Given the description of an element on the screen output the (x, y) to click on. 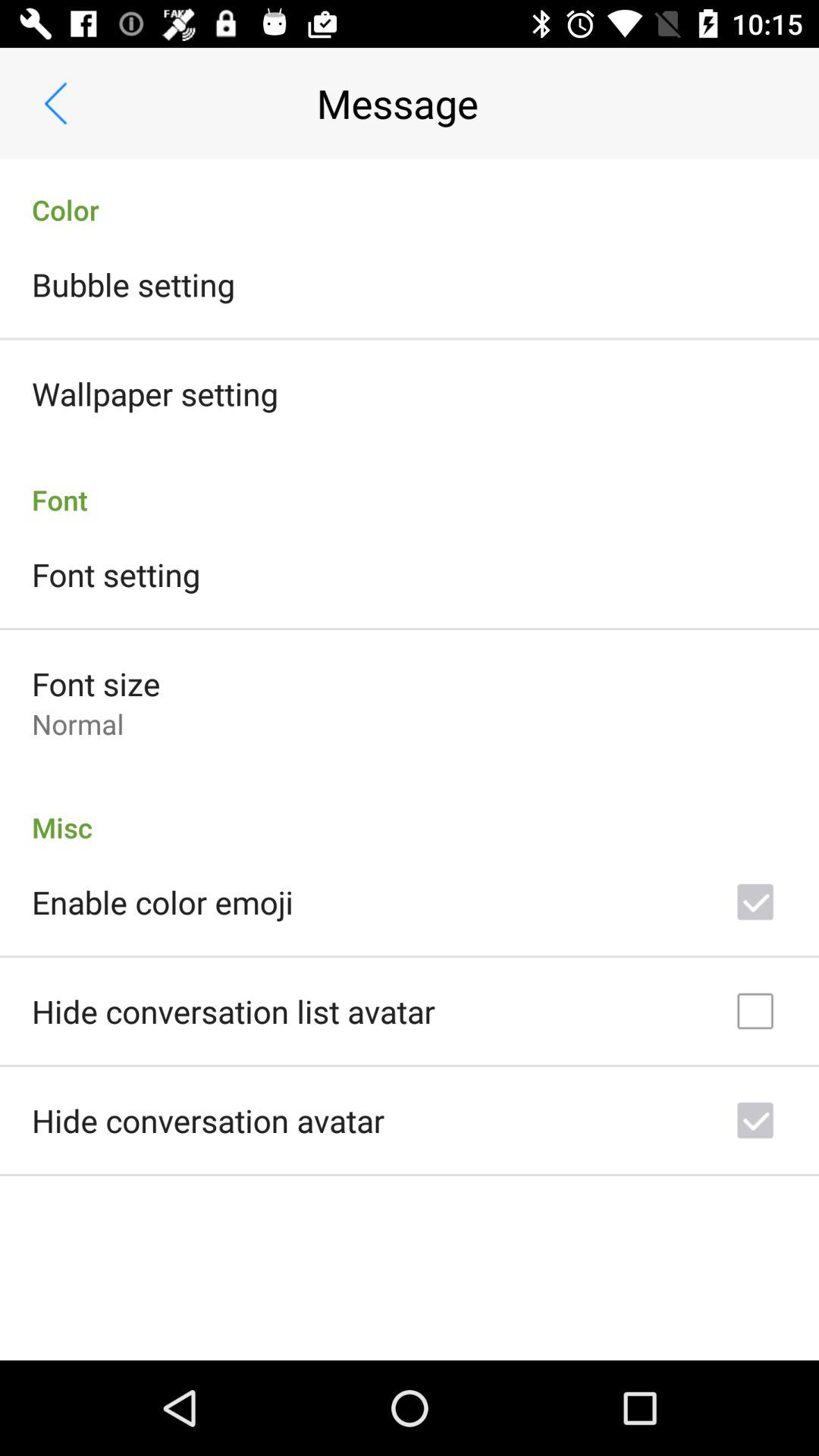
turn off enable color emoji icon (162, 901)
